Given the description of an element on the screen output the (x, y) to click on. 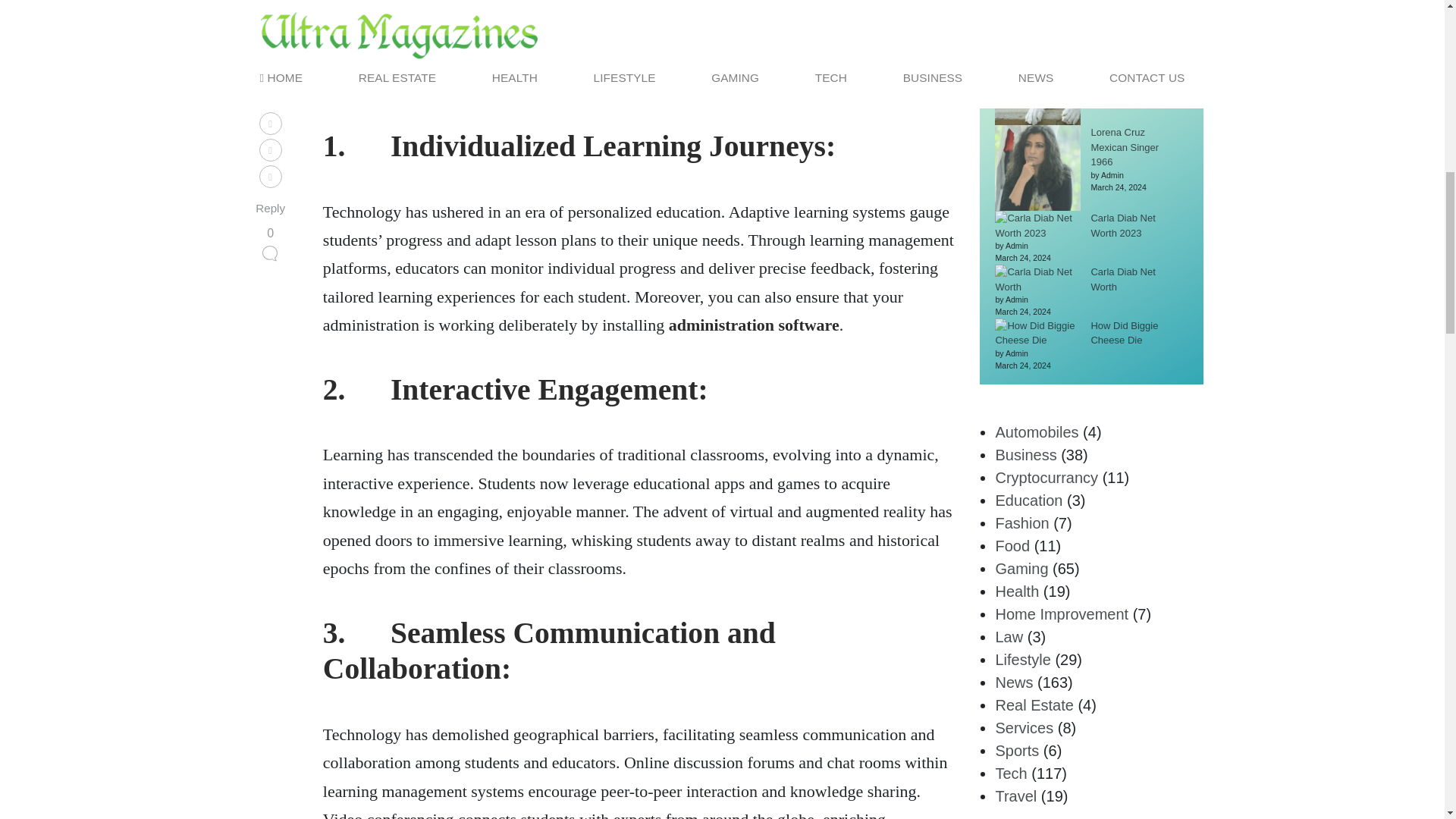
Lions with Down Syndrome: A Unique Perspective (1133, 60)
Carla Diab Net Worth (1122, 279)
Lorena Cruz Mexican Singer 1966 (1124, 146)
administration software (754, 324)
Carla Diab Net Worth 2023 (1122, 225)
